Given the description of an element on the screen output the (x, y) to click on. 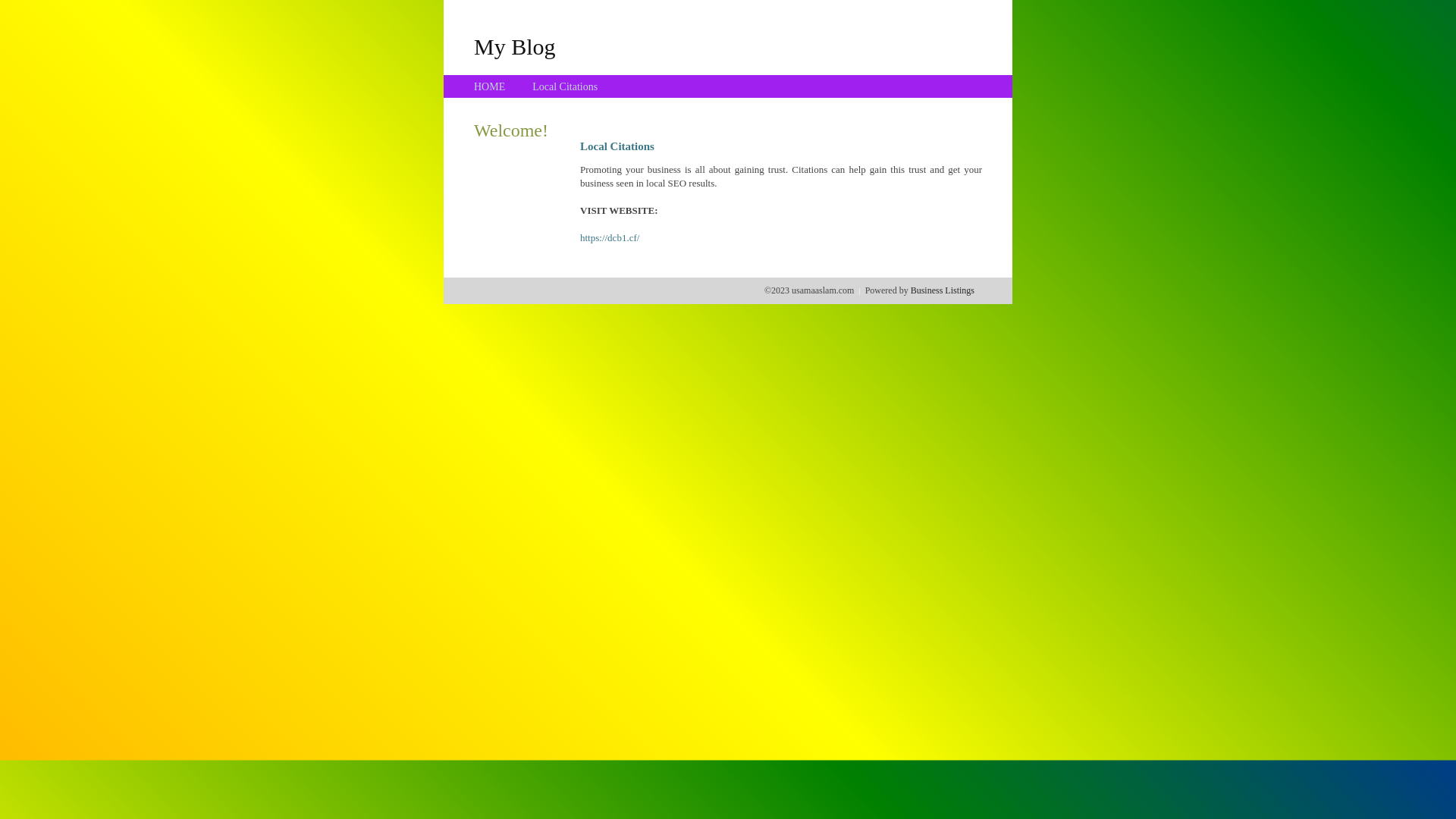
Local Citations Element type: text (564, 86)
Business Listings Element type: text (942, 290)
HOME Element type: text (489, 86)
https://dcb1.cf/ Element type: text (609, 237)
My Blog Element type: text (514, 46)
